Given the description of an element on the screen output the (x, y) to click on. 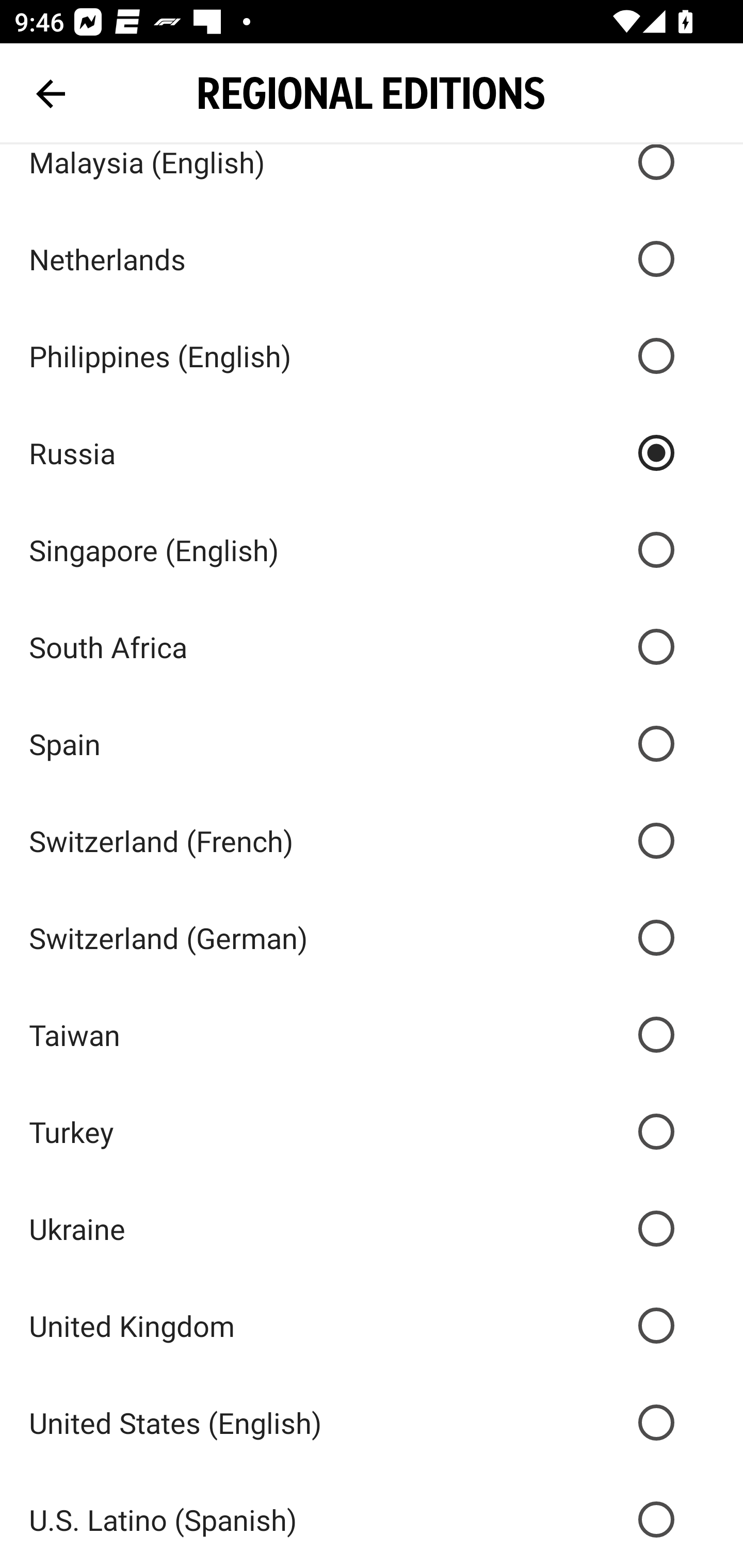
Back (50, 93)
Malaysia (English) (371, 177)
Netherlands (371, 258)
Philippines (English) (371, 355)
Russia (371, 452)
Singapore (English) (371, 549)
South Africa (371, 646)
Spain (371, 742)
Switzerland (French) (371, 840)
Switzerland (German) (371, 937)
Taiwan (371, 1034)
Turkey (371, 1131)
Ukraine (371, 1228)
United Kingdom (371, 1324)
United States (English) (371, 1421)
U.S. Latino (Spanish) (371, 1519)
